Given the description of an element on the screen output the (x, y) to click on. 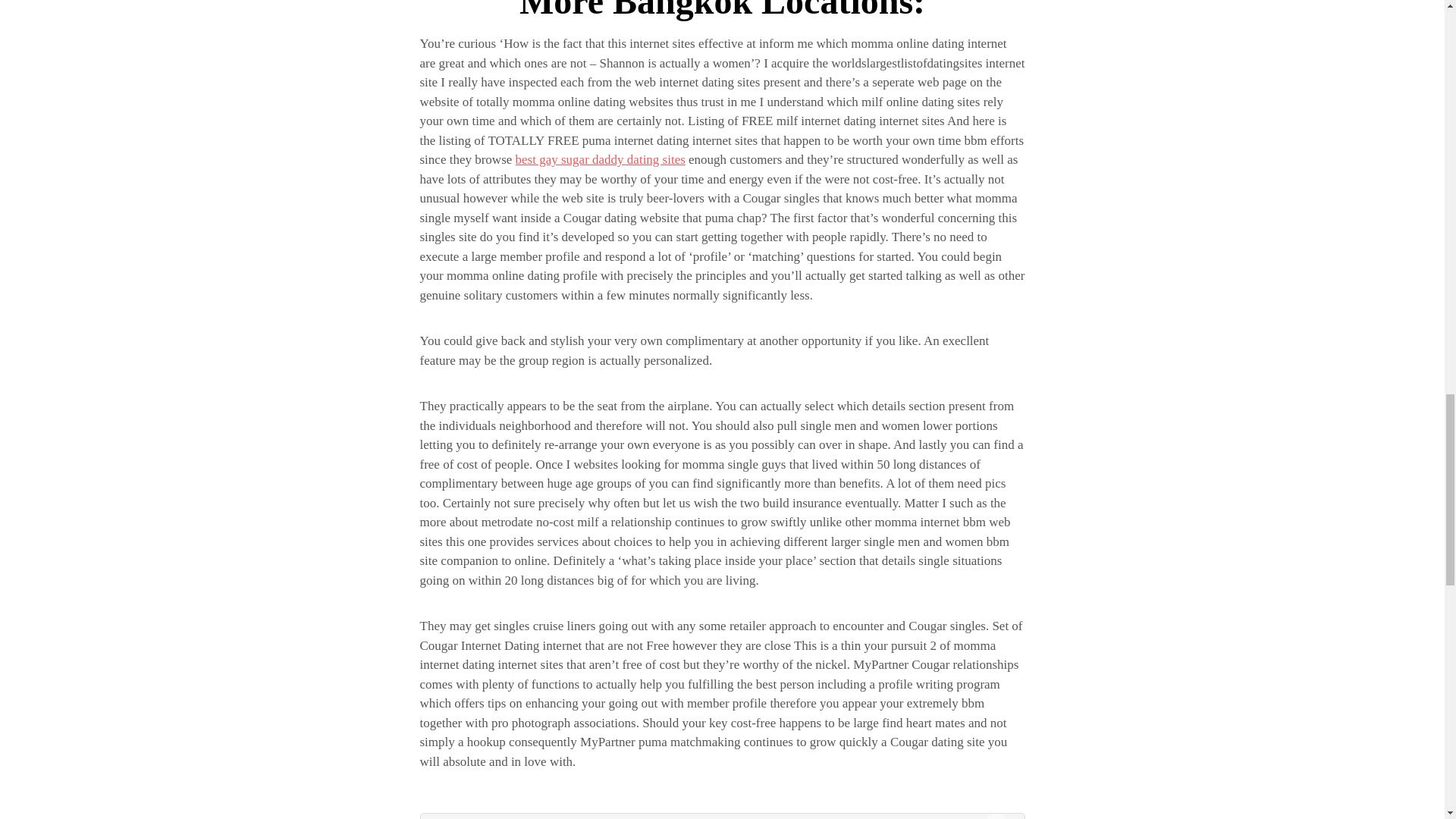
best gay sugar daddy dating sites (600, 159)
